Given the description of an element on the screen output the (x, y) to click on. 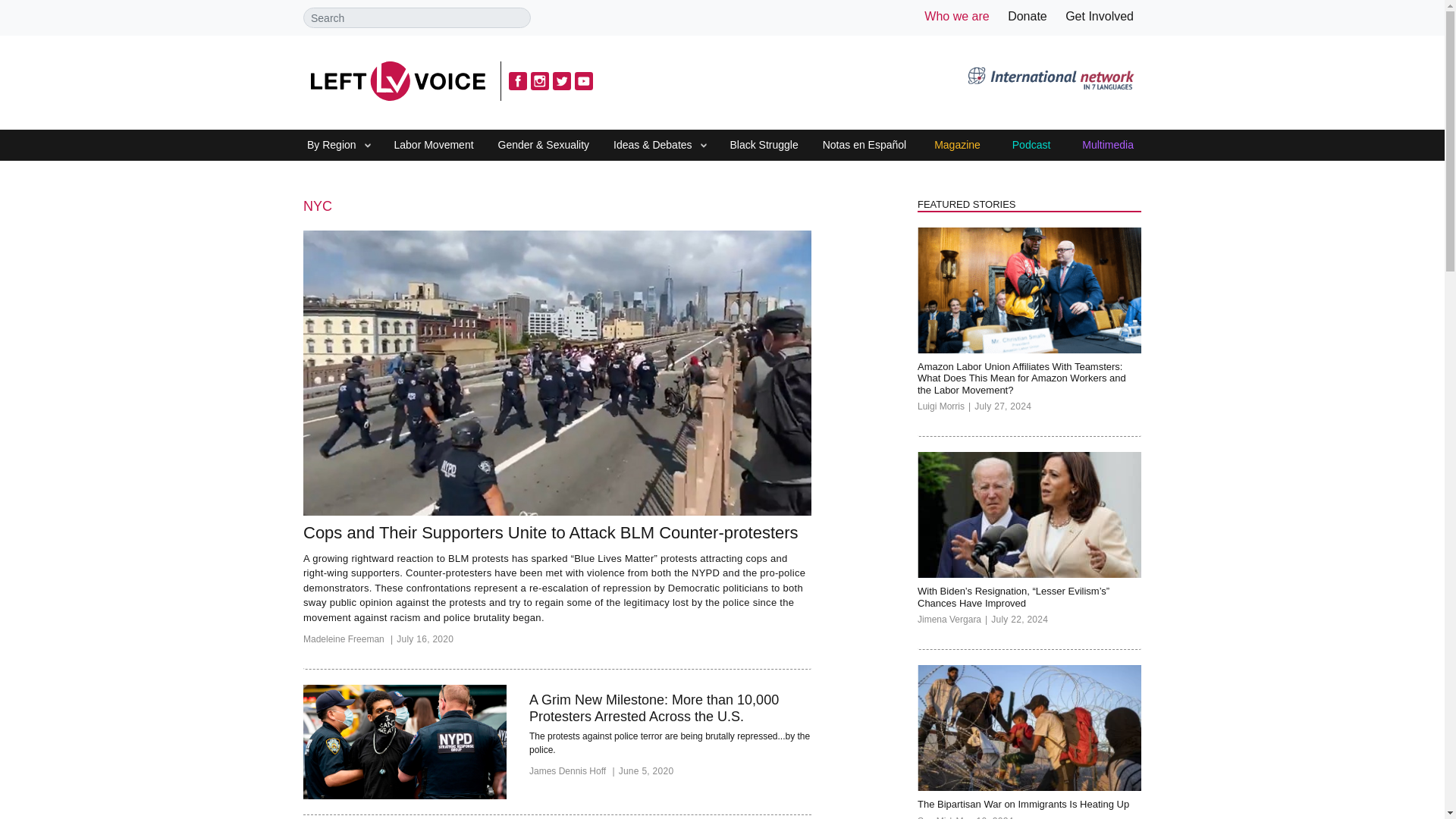
Donate (1027, 15)
Left Voice (397, 80)
Who we are (956, 15)
Labor Movement (433, 145)
Black Struggle (763, 145)
Madeleine Freeman (349, 642)
By Region (330, 145)
James Dennis Hoff (573, 774)
Get Involved (1099, 15)
